Given the description of an element on the screen output the (x, y) to click on. 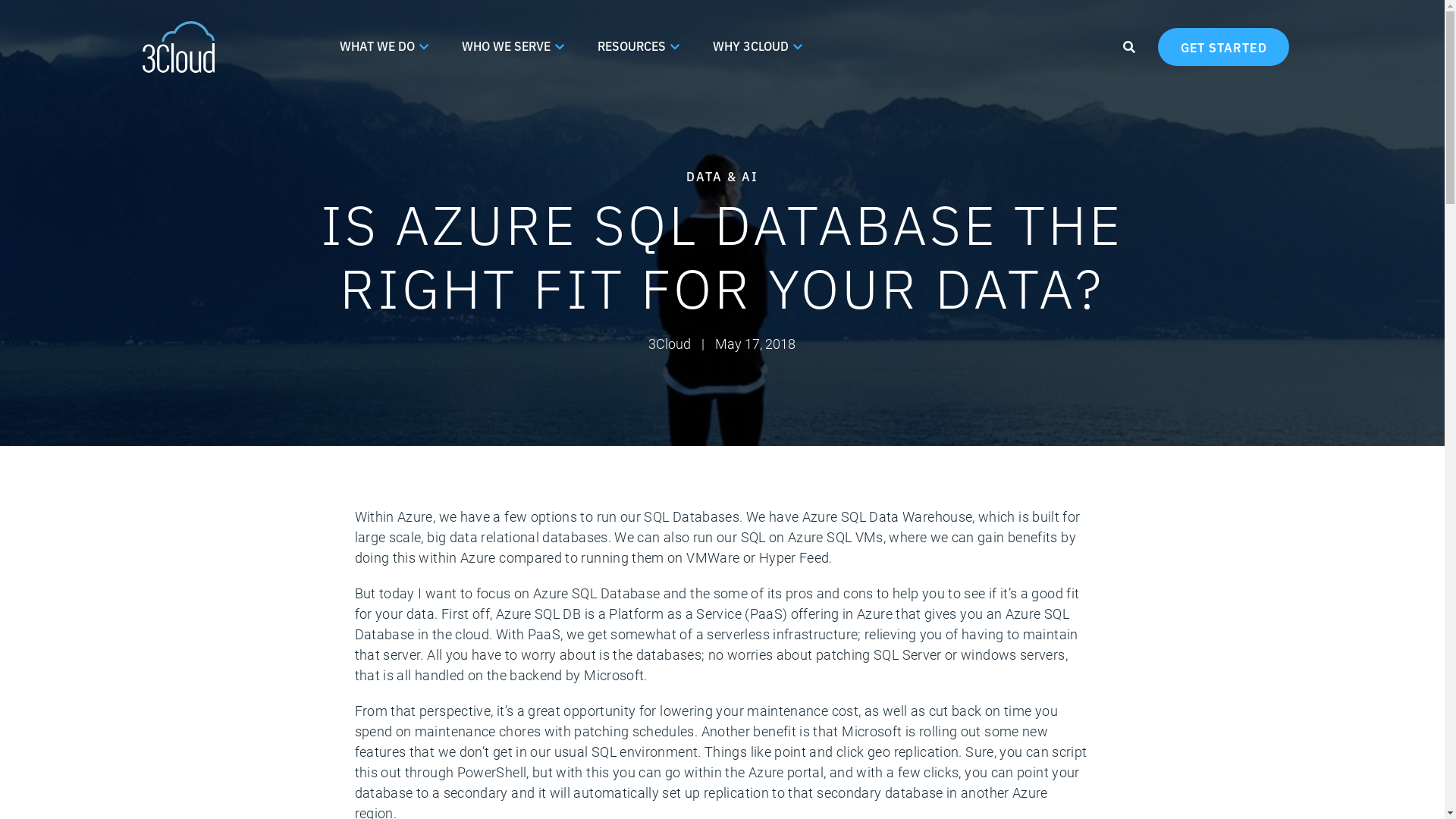
RESOURCES Element type: text (638, 47)
WHAT WE DO Element type: text (383, 47)
WHY 3CLOUD Element type: text (757, 47)
GET STARTED Element type: text (1223, 46)
WHO WE SERVE Element type: text (512, 47)
